Given the description of an element on the screen output the (x, y) to click on. 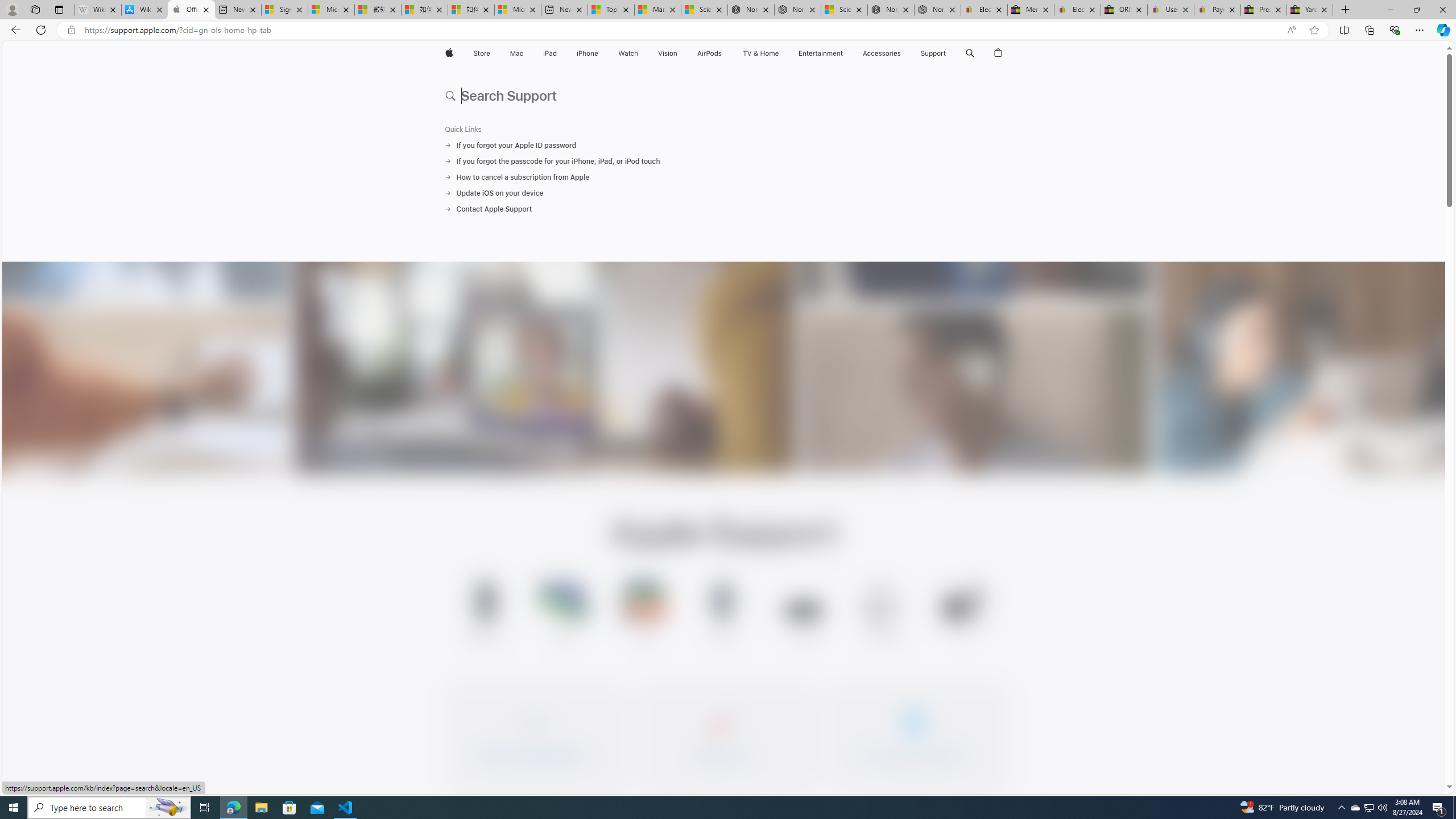
Mac (516, 53)
Mac menu (524, 53)
iPad (550, 53)
AirPods (709, 53)
Marine life - MSN (656, 9)
Vision (667, 53)
Apple Watch Support (724, 612)
Accessories menu (903, 53)
TV and Home (759, 53)
iPhone menu (600, 53)
Contact Apple Support (723, 209)
